Given the description of an element on the screen output the (x, y) to click on. 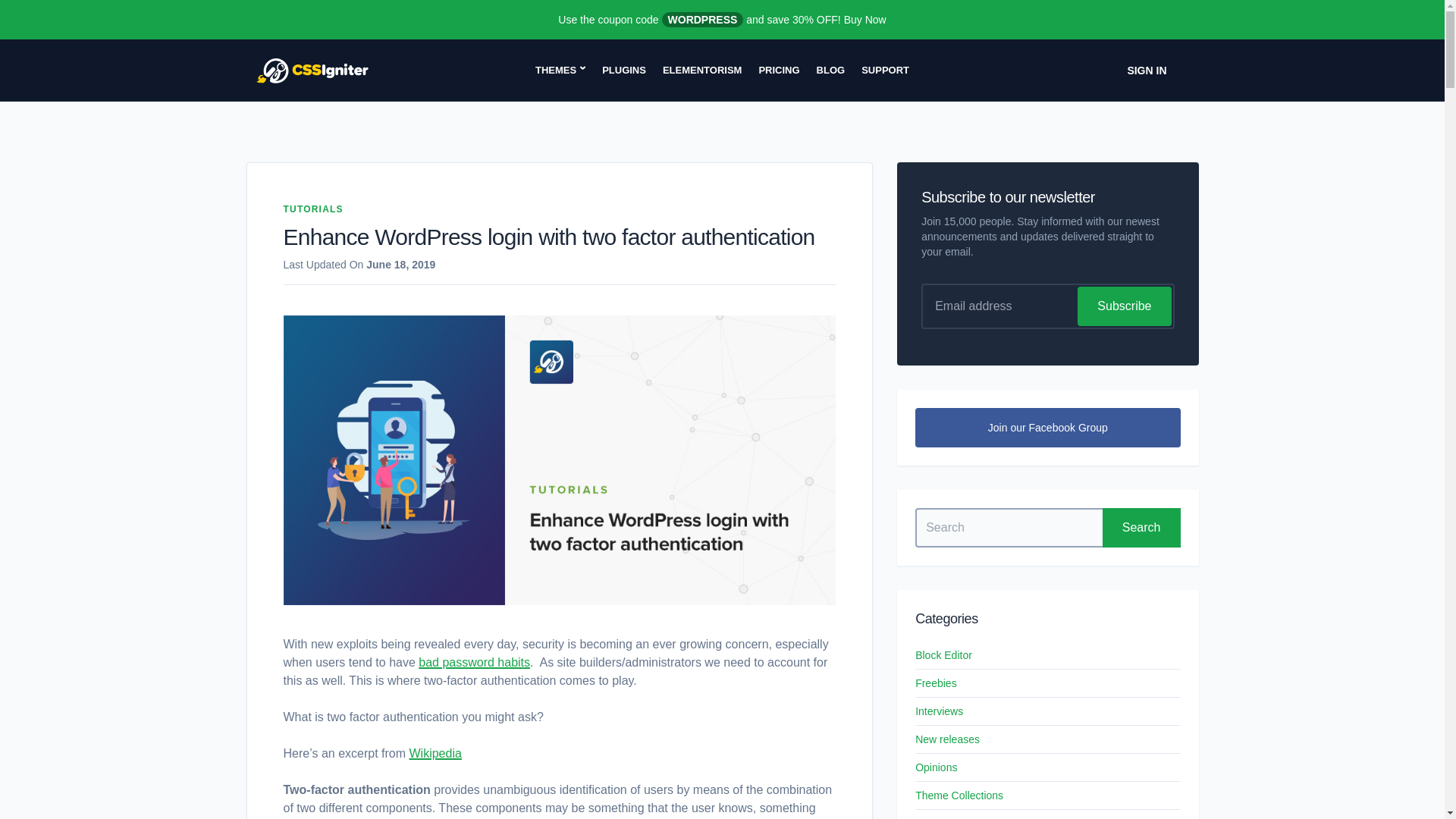
SIGN IN (1146, 69)
Wikipedia (435, 753)
bad password habits (474, 662)
ELEMENTORISM (702, 69)
wikipedia two factor authentication article (435, 753)
TUTORIALS (313, 208)
Most common passwords (474, 662)
Buy Now (865, 19)
